Given the description of an element on the screen output the (x, y) to click on. 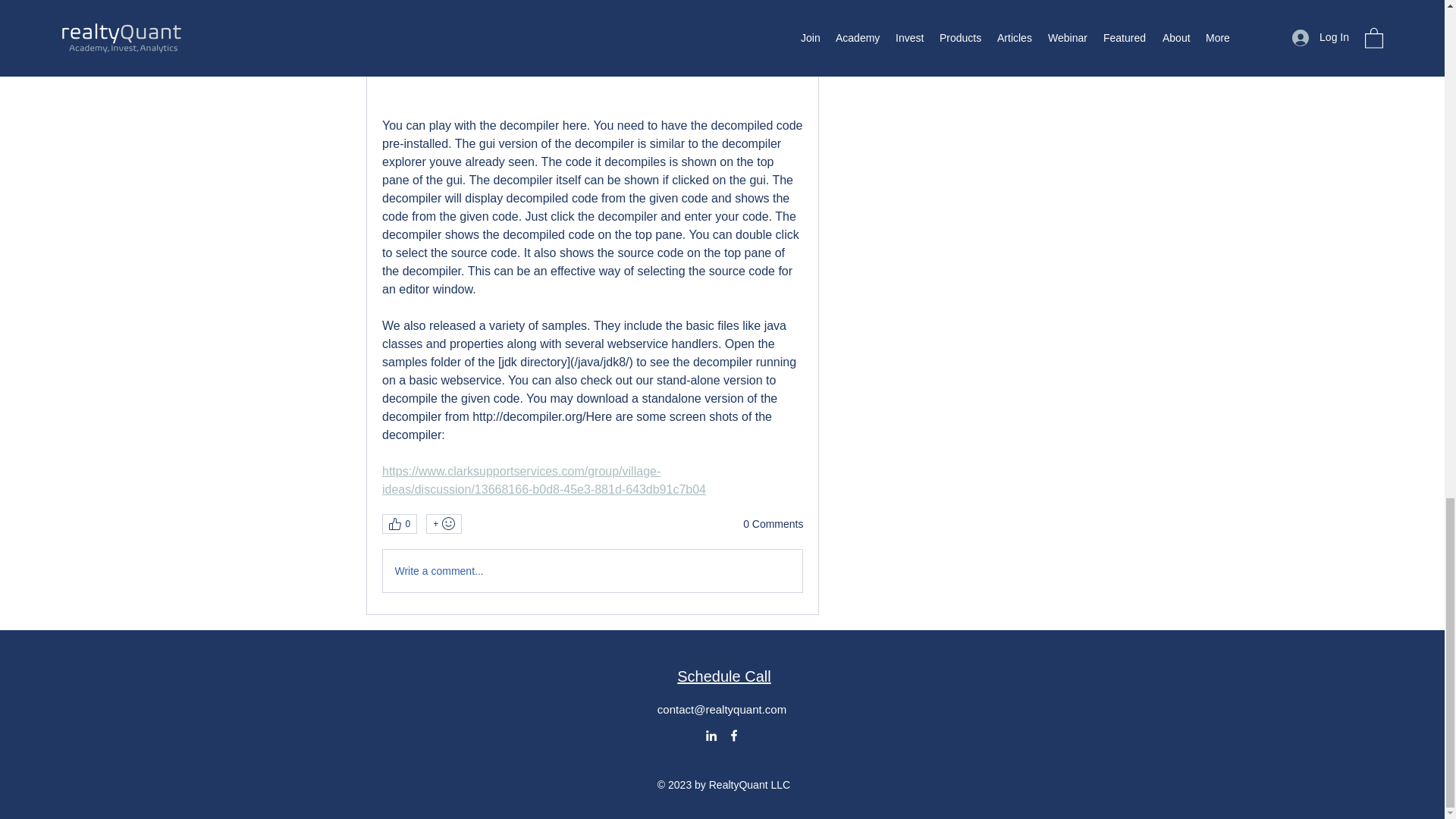
Download (591, 57)
Schedule Call (723, 676)
Write a comment... (591, 570)
0 Comments (772, 524)
